Given the description of an element on the screen output the (x, y) to click on. 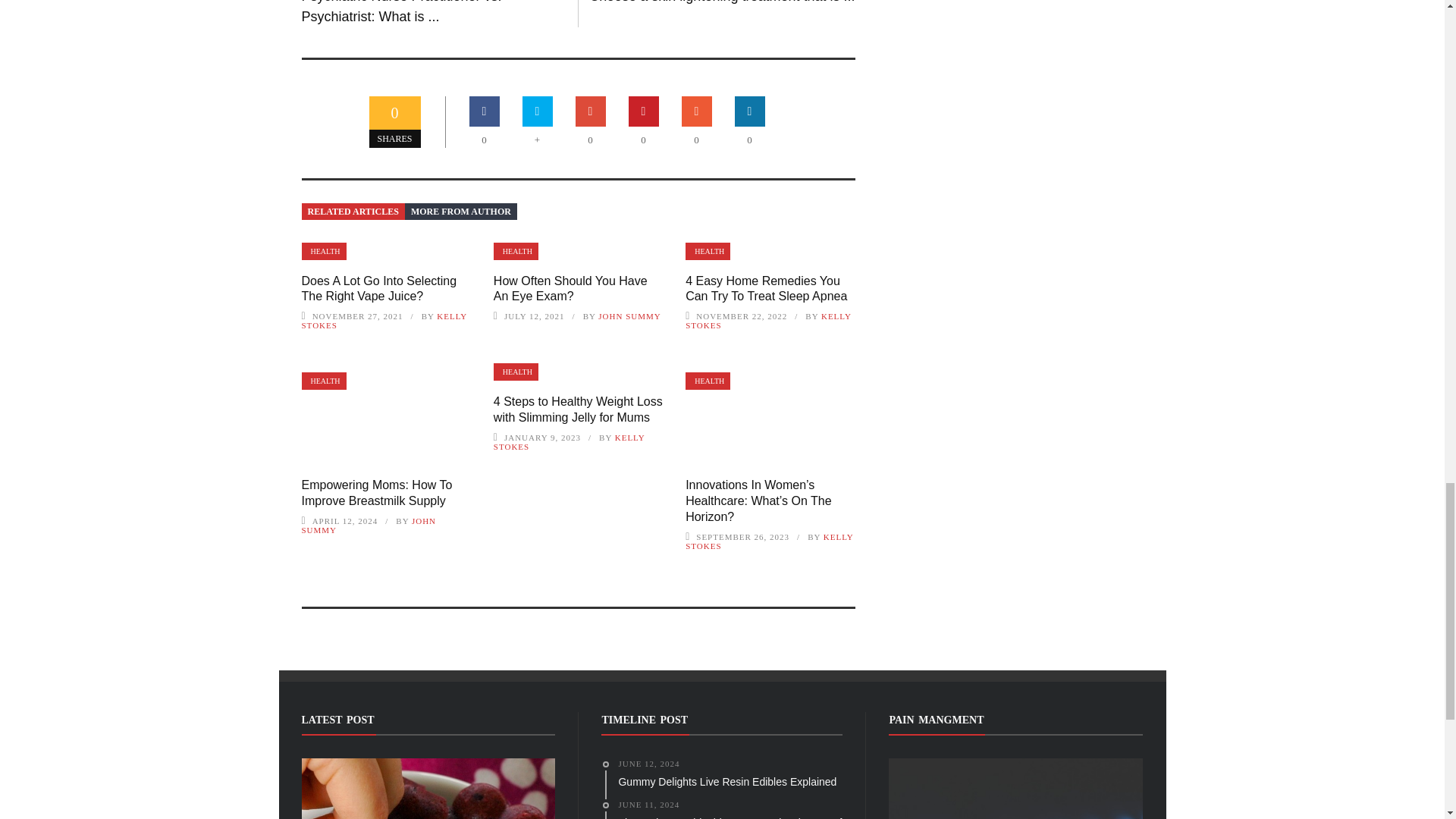
Choose a skin lightening treatment that is ... (721, 1)
HEALTH (323, 251)
MORE FROM AUTHOR (460, 211)
RELATED ARTICLES (352, 211)
Psychiatric Nurse Practitioner vs. Psychiatrist: What is ... (401, 11)
